Given the description of an element on the screen output the (x, y) to click on. 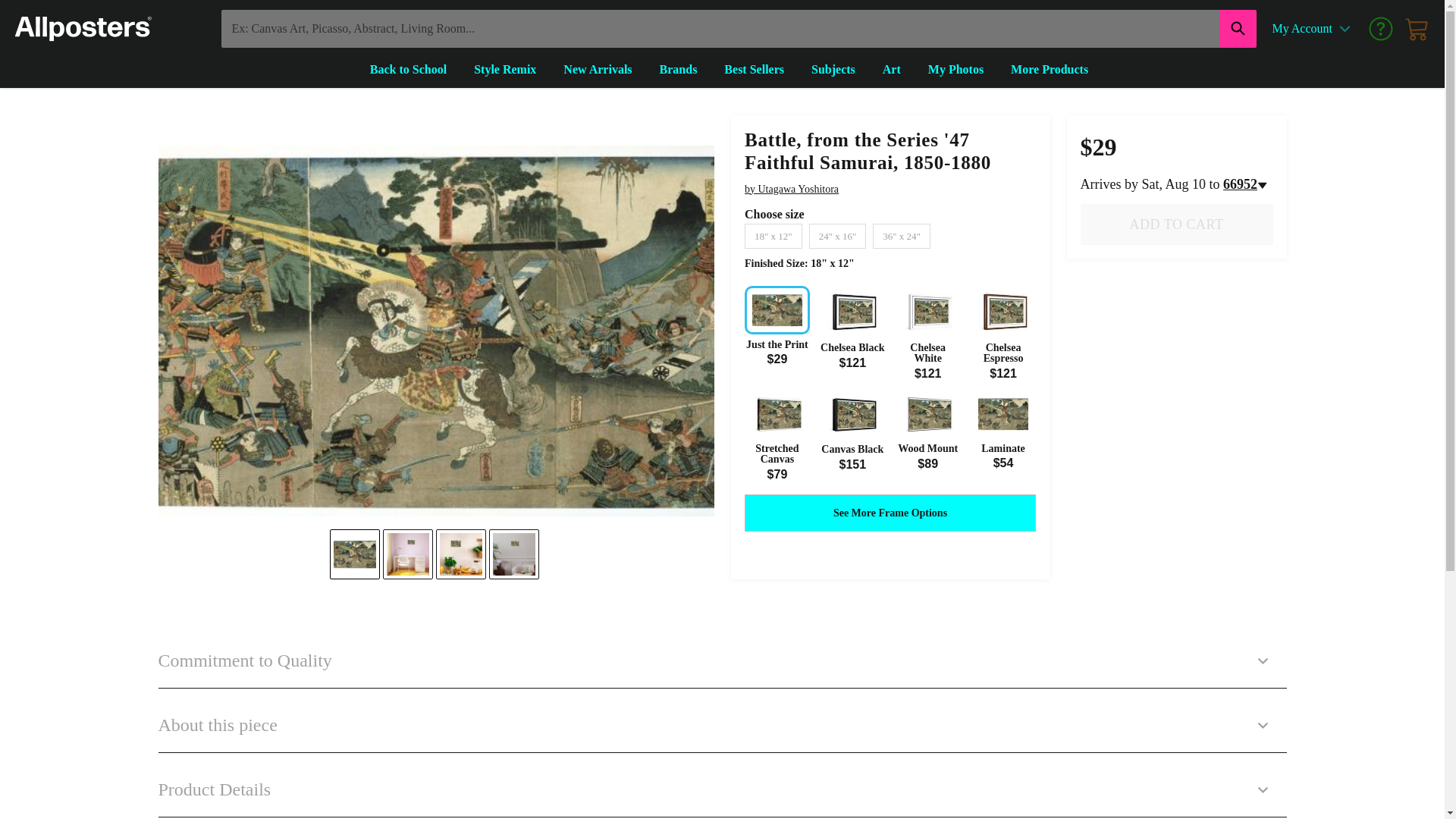
Back to School (408, 69)
Style Remix (505, 69)
Back to School (408, 69)
New Arrivals (597, 69)
Brands (678, 69)
AllPosters.com (82, 28)
Style Remix (505, 69)
Brands (678, 69)
New Arrivals (597, 69)
